Given the description of an element on the screen output the (x, y) to click on. 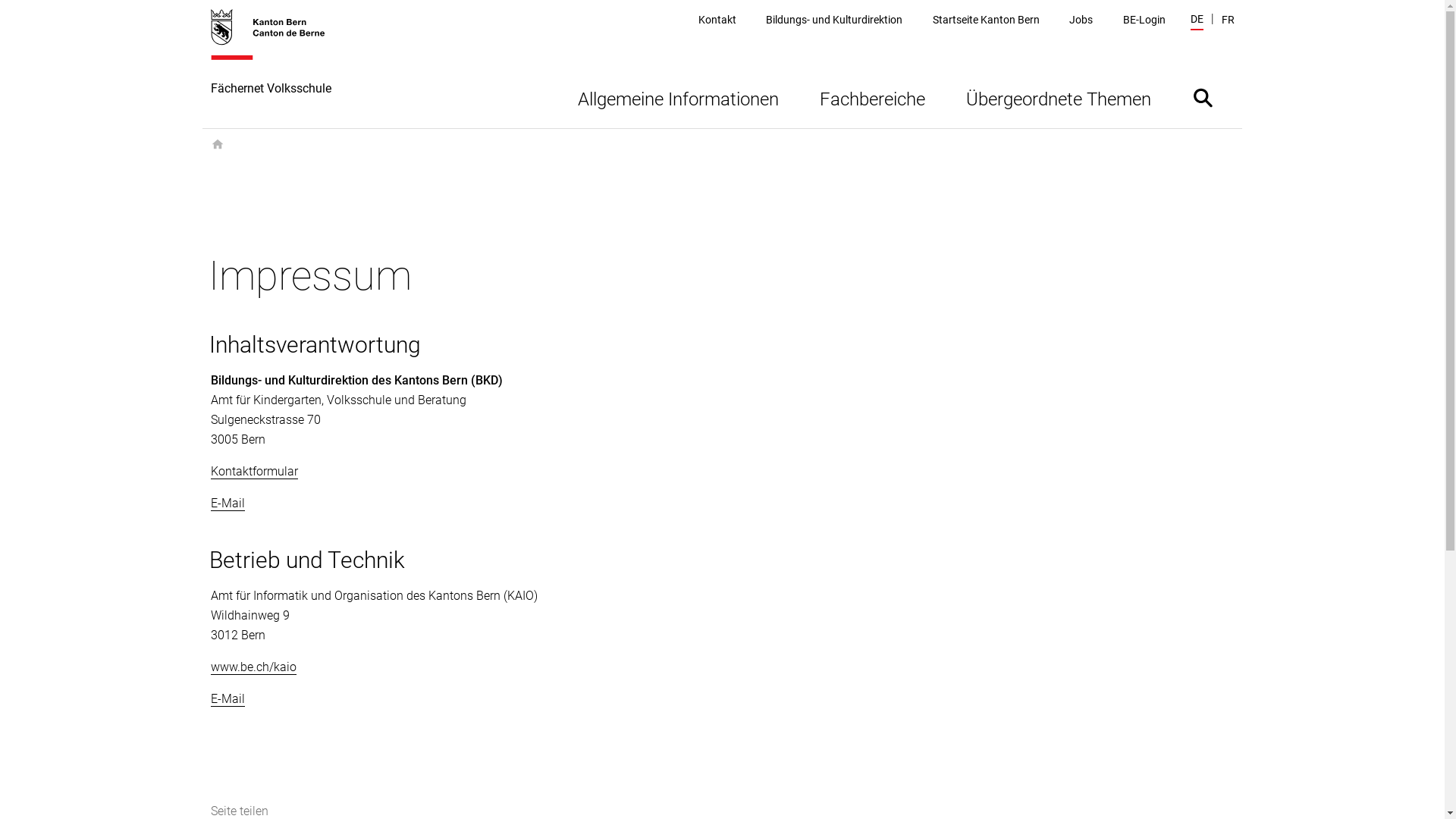
Jobs Element type: text (1080, 19)
Bildungs- und Kulturdirektion Element type: text (833, 19)
Kontaktformular Element type: text (254, 471)
www.be.ch/kaio Element type: text (253, 666)
DE Element type: text (1196, 21)
Startseite Kanton Bern Element type: text (985, 19)
Kontakt Element type: text (717, 19)
FR Element type: text (1226, 19)
E-Mail Element type: text (227, 503)
BE-Login Element type: text (1144, 19)
Suche ein- oder ausblenden Element type: text (1201, 96)
Allgemeine Informationen Element type: text (677, 96)
Fachbereiche Element type: text (872, 96)
E-Mail Element type: text (227, 698)
